Given the description of an element on the screen output the (x, y) to click on. 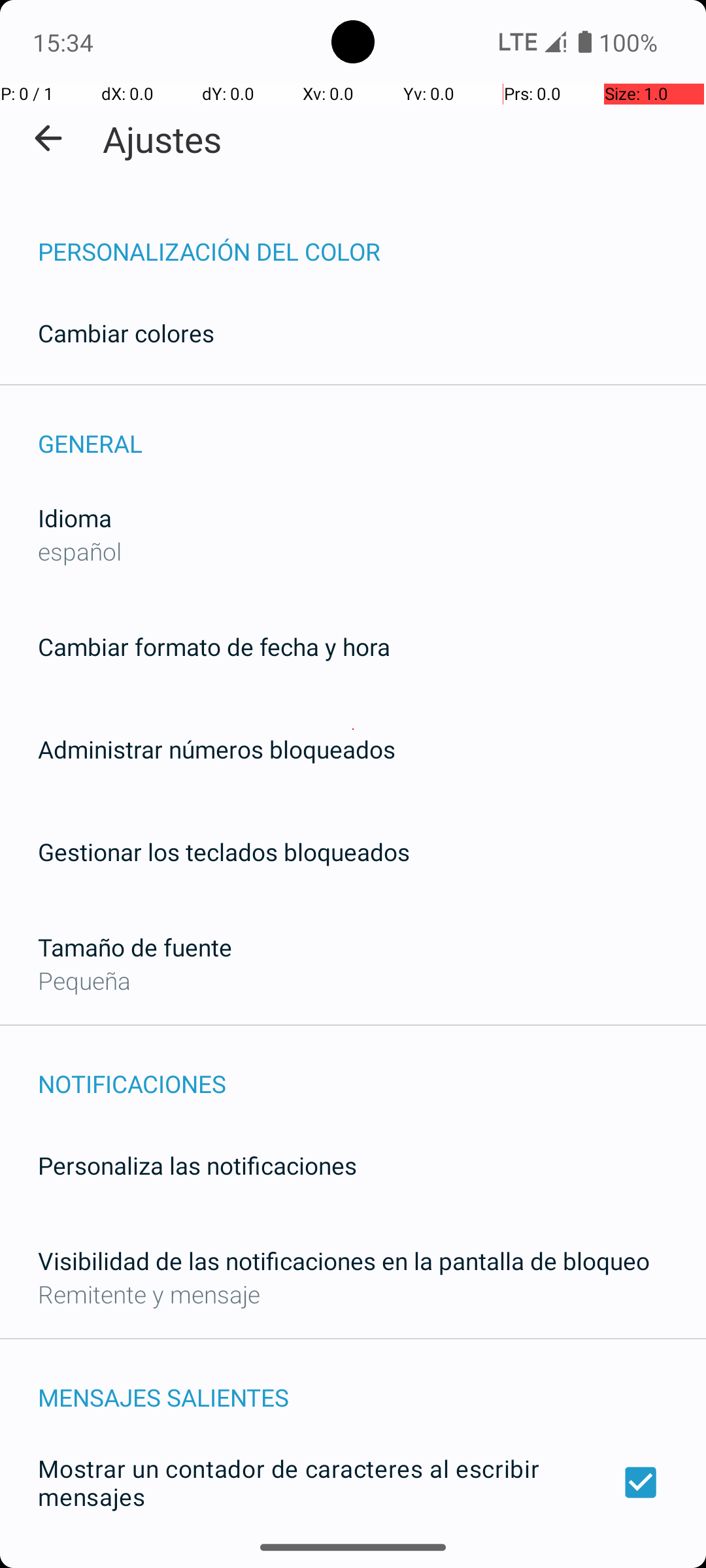
NOTIFICACIONES Element type: android.widget.TextView (371, 1069)
MENSAJES SALIENTES Element type: android.widget.TextView (371, 1383)
Cambiar formato de fecha y hora Element type: android.widget.TextView (213, 646)
Administrar números bloqueados Element type: android.widget.TextView (216, 748)
Gestionar los teclados bloqueados Element type: android.widget.TextView (223, 851)
Tamaño de fuente Element type: android.widget.TextView (134, 946)
Pequeña Element type: android.widget.TextView (83, 979)
Visibilidad de las notificaciones en la pantalla de bloqueo Element type: android.widget.TextView (343, 1260)
Remitente y mensaje Element type: android.widget.TextView (148, 1293)
Mostrar un contador de caracteres al escribir mensajes Element type: android.widget.CheckBox (352, 1482)
Elimina los acentos y signos diacríticos al enviar mensajes Element type: android.widget.CheckBox (352, 1559)
